Given the description of an element on the screen output the (x, y) to click on. 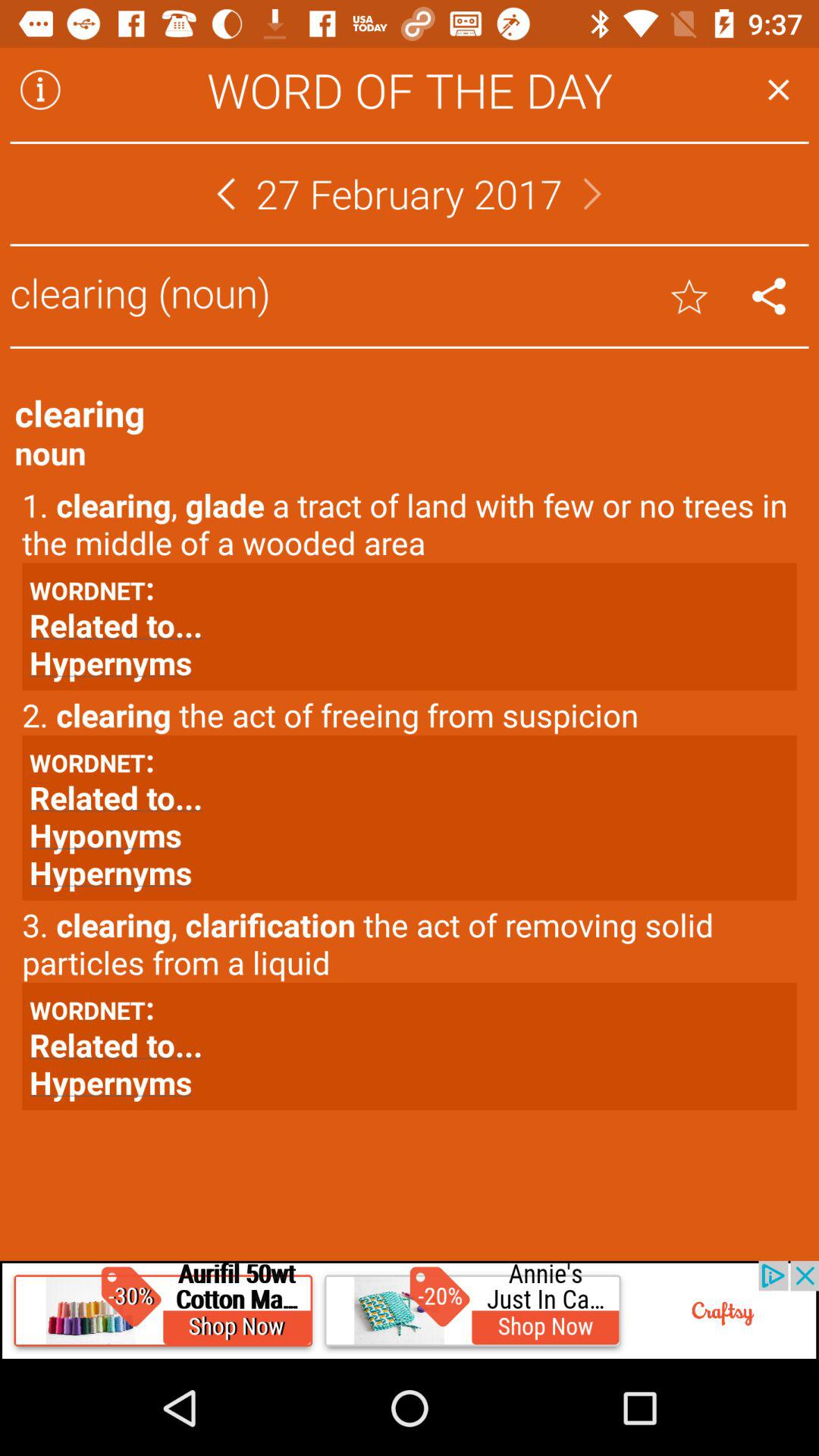
close this window (778, 89)
